Given the description of an element on the screen output the (x, y) to click on. 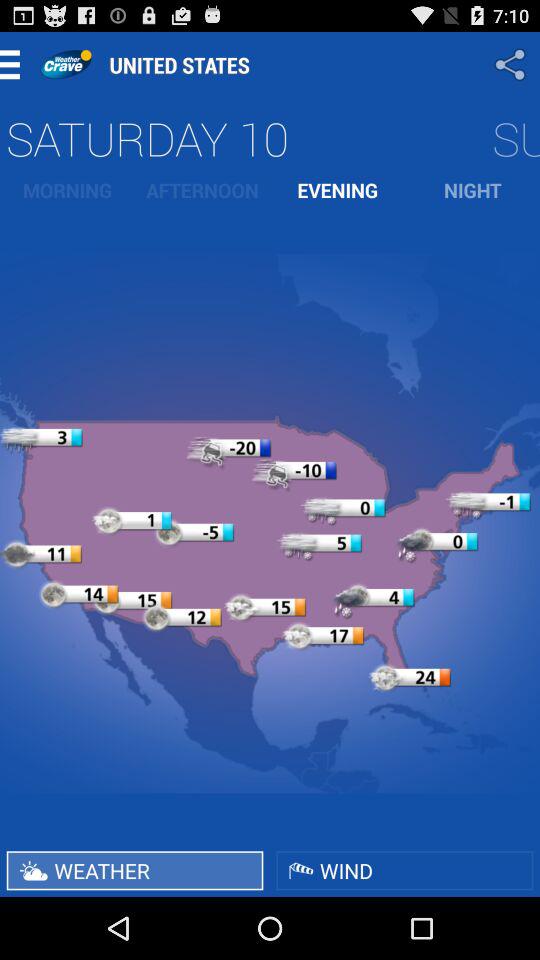
open home page (65, 64)
